Given the description of an element on the screen output the (x, y) to click on. 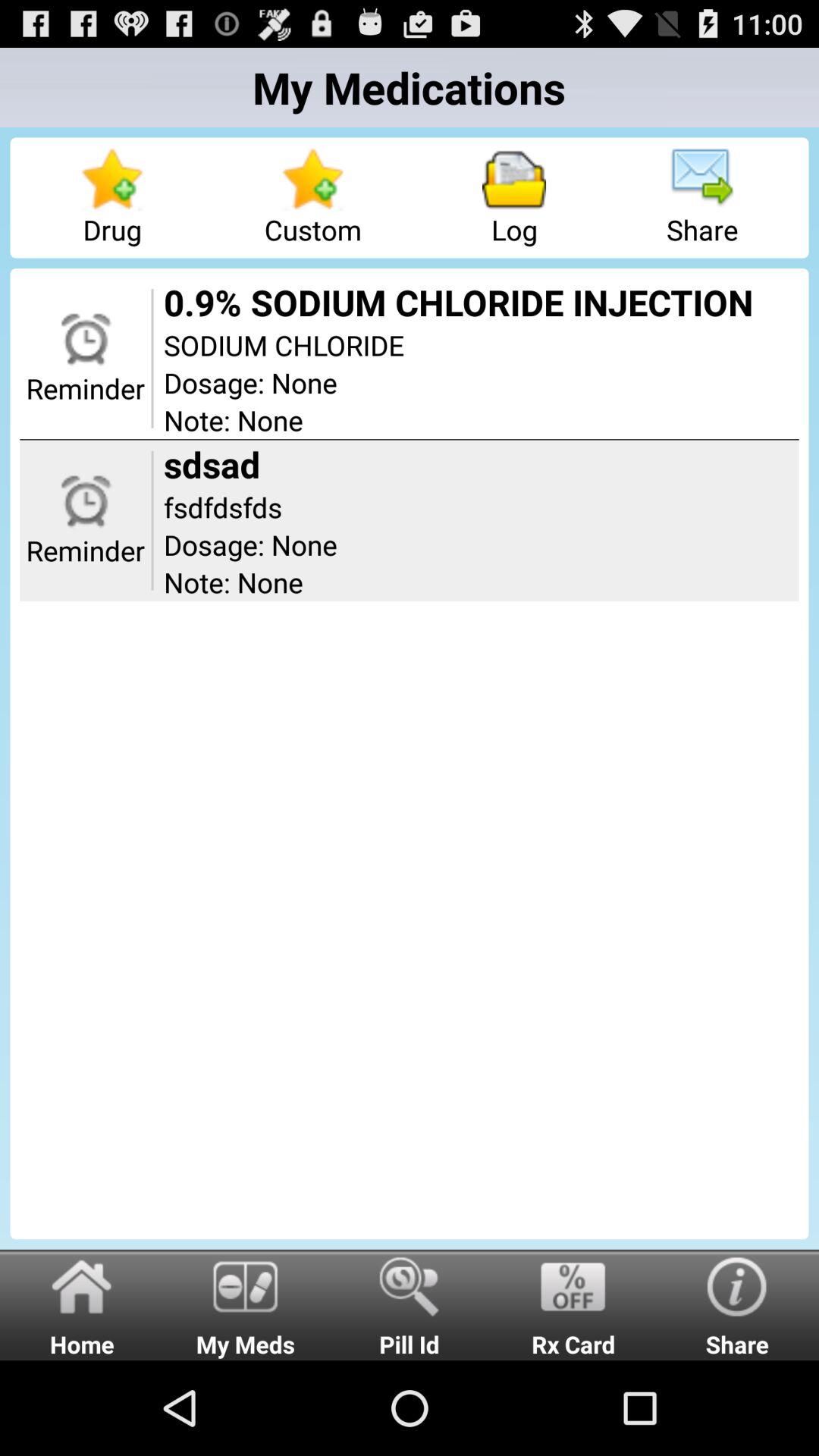
swipe to the pill id item (409, 1304)
